Given the description of an element on the screen output the (x, y) to click on. 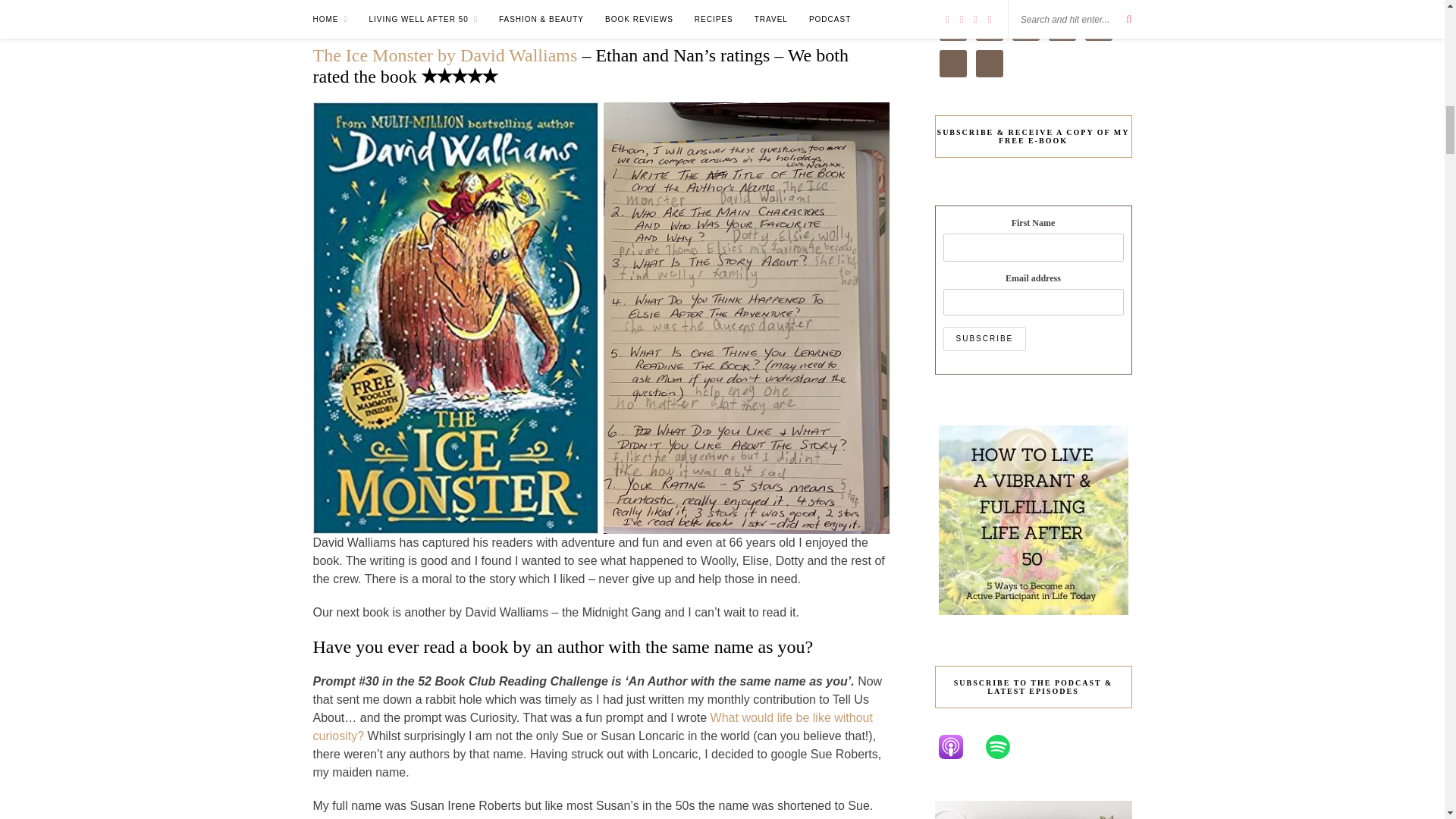
Spotify (1004, 746)
Subscribe (984, 338)
Apple-Podcasts (957, 746)
